Given the description of an element on the screen output the (x, y) to click on. 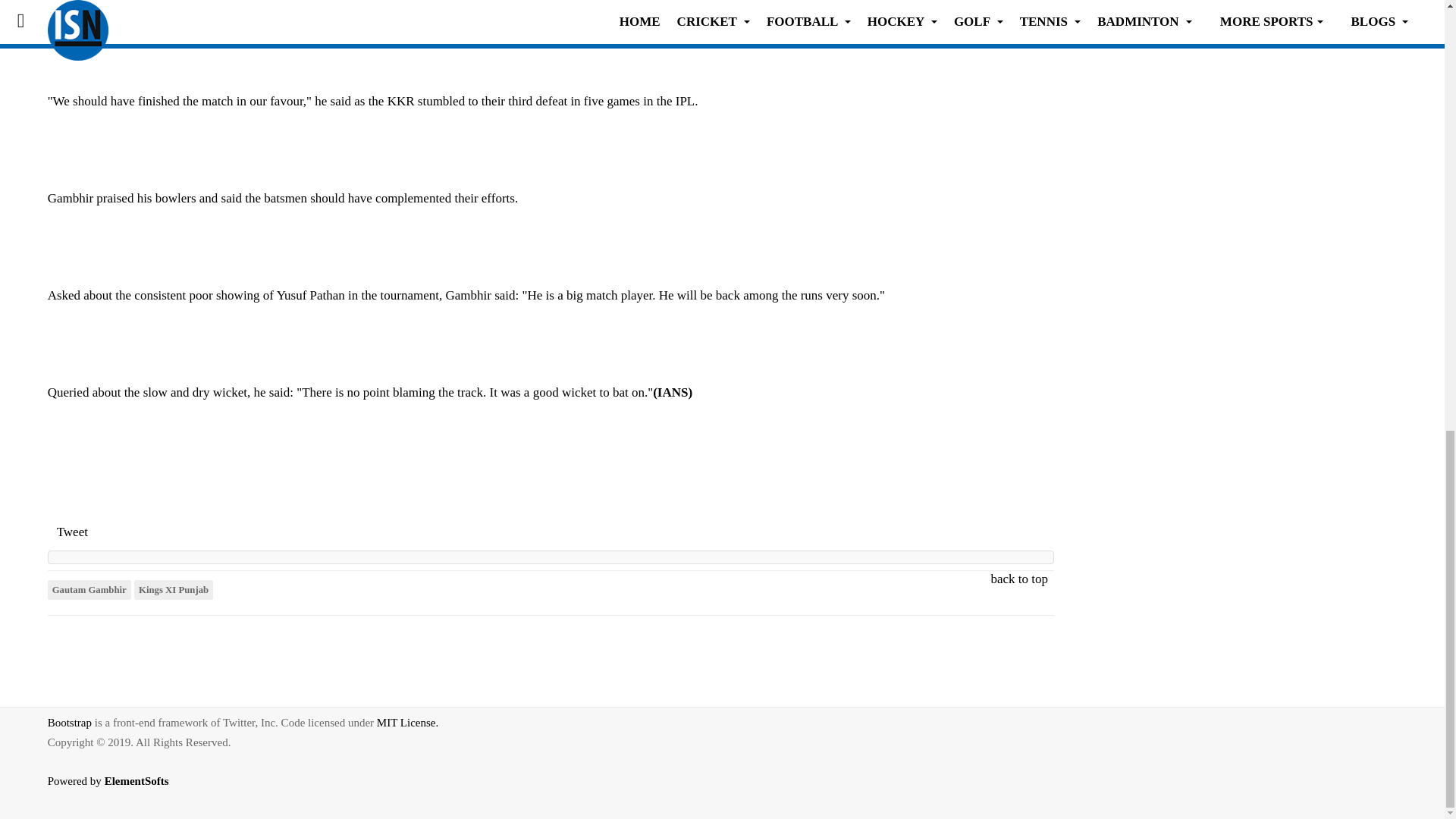
Powered By ElementSofts (117, 792)
MIT License (407, 722)
Bootstrap by Twitter (69, 722)
